Given the description of an element on the screen output the (x, y) to click on. 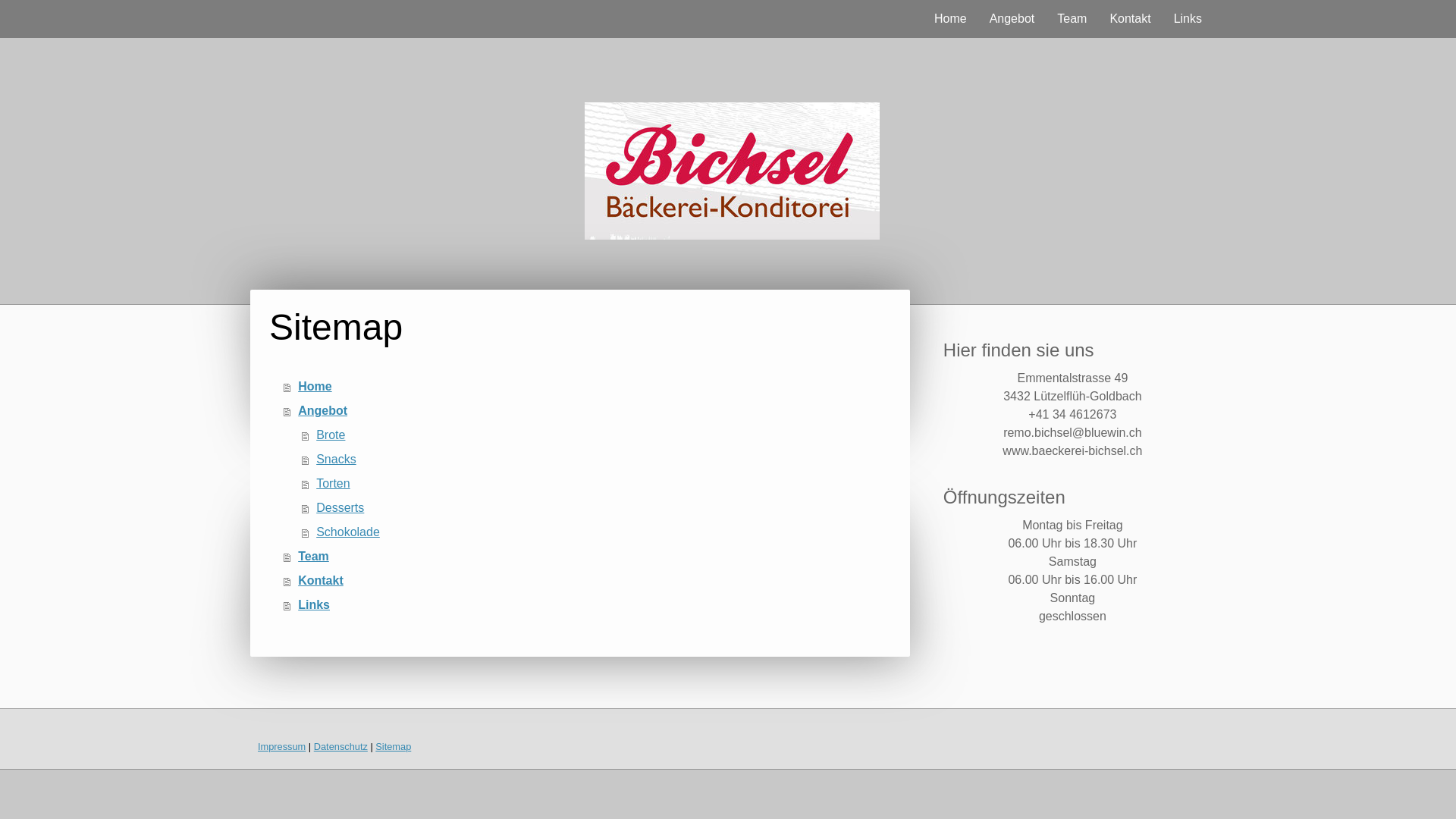
Snacks Element type: text (597, 459)
Schokolade Element type: text (597, 532)
Angebot Element type: text (1012, 18)
Desserts Element type: text (597, 507)
Brote Element type: text (597, 435)
Home Element type: text (588, 386)
Impressum Element type: text (281, 746)
Home Element type: text (950, 18)
Team Element type: text (1071, 18)
Sitemap Element type: text (393, 746)
Kontakt Element type: text (1129, 18)
Links Element type: text (1187, 18)
Kontakt Element type: text (588, 580)
Team Element type: text (588, 556)
Torten Element type: text (597, 483)
Datenschutz Element type: text (340, 746)
Links Element type: text (588, 605)
Angebot Element type: text (588, 410)
